Given the description of an element on the screen output the (x, y) to click on. 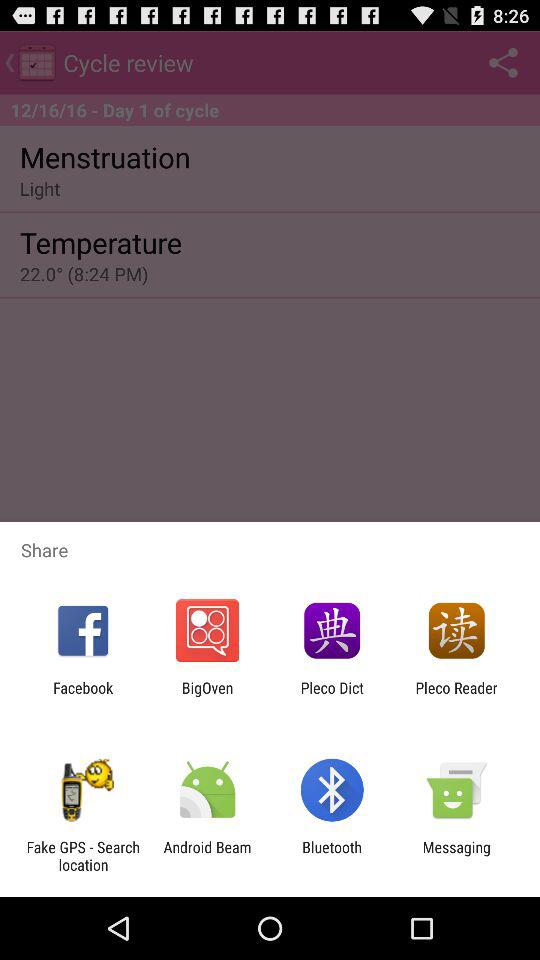
click app next to bluetooth item (207, 856)
